Given the description of an element on the screen output the (x, y) to click on. 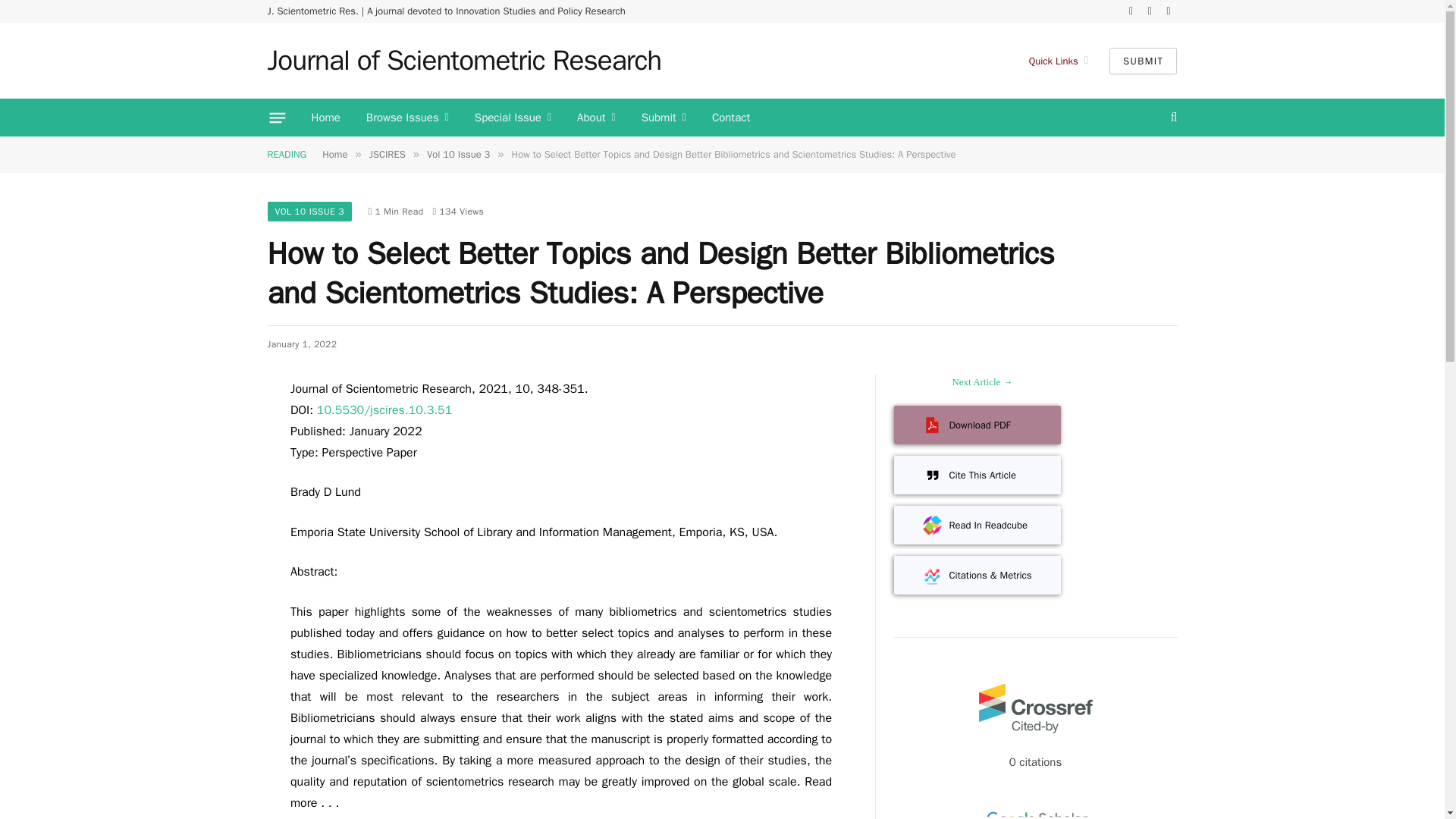
Quick Links (1058, 60)
Journal of Scientometric Research (463, 60)
Journal of Scientometric Research (463, 60)
